Given the description of an element on the screen output the (x, y) to click on. 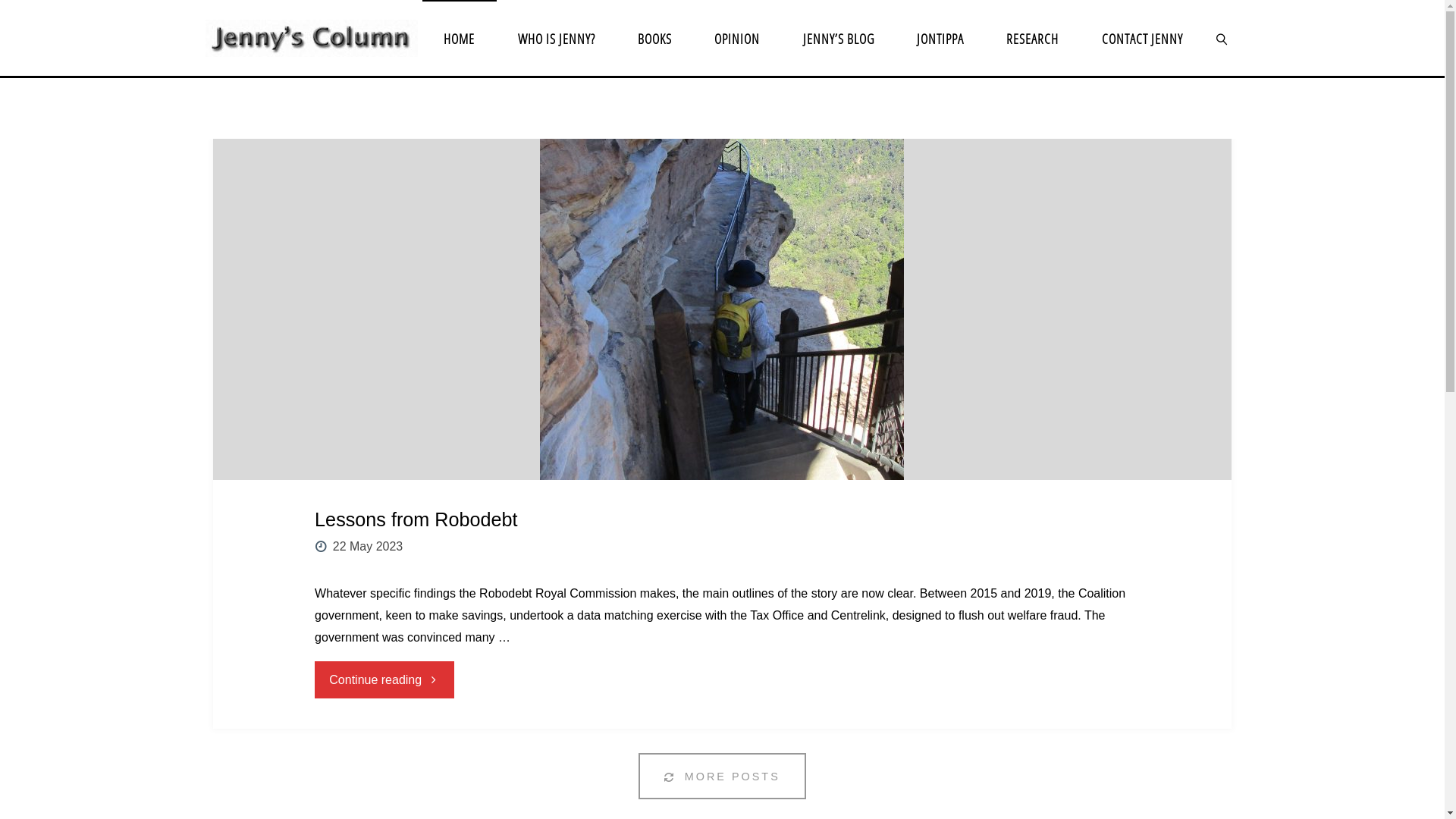
Lessons from Robodebt Element type: text (415, 519)
BOOKS Element type: text (654, 37)
Date Element type: hover (321, 545)
JONTIPPA Element type: text (940, 37)
CONTACT JENNY Element type: text (1141, 37)
RESEARCH Element type: text (1032, 37)
WHO IS JENNY? Element type: text (556, 37)
Lessons from Robodebt Element type: hover (722, 309)
OPINION Element type: text (737, 37)
Jenny's Column Element type: hover (311, 37)
SEARCH Element type: text (1221, 37)
Continue reading
"Lessons from Robodebt" Element type: text (384, 679)
HOME Element type: text (458, 37)
